Given the description of an element on the screen output the (x, y) to click on. 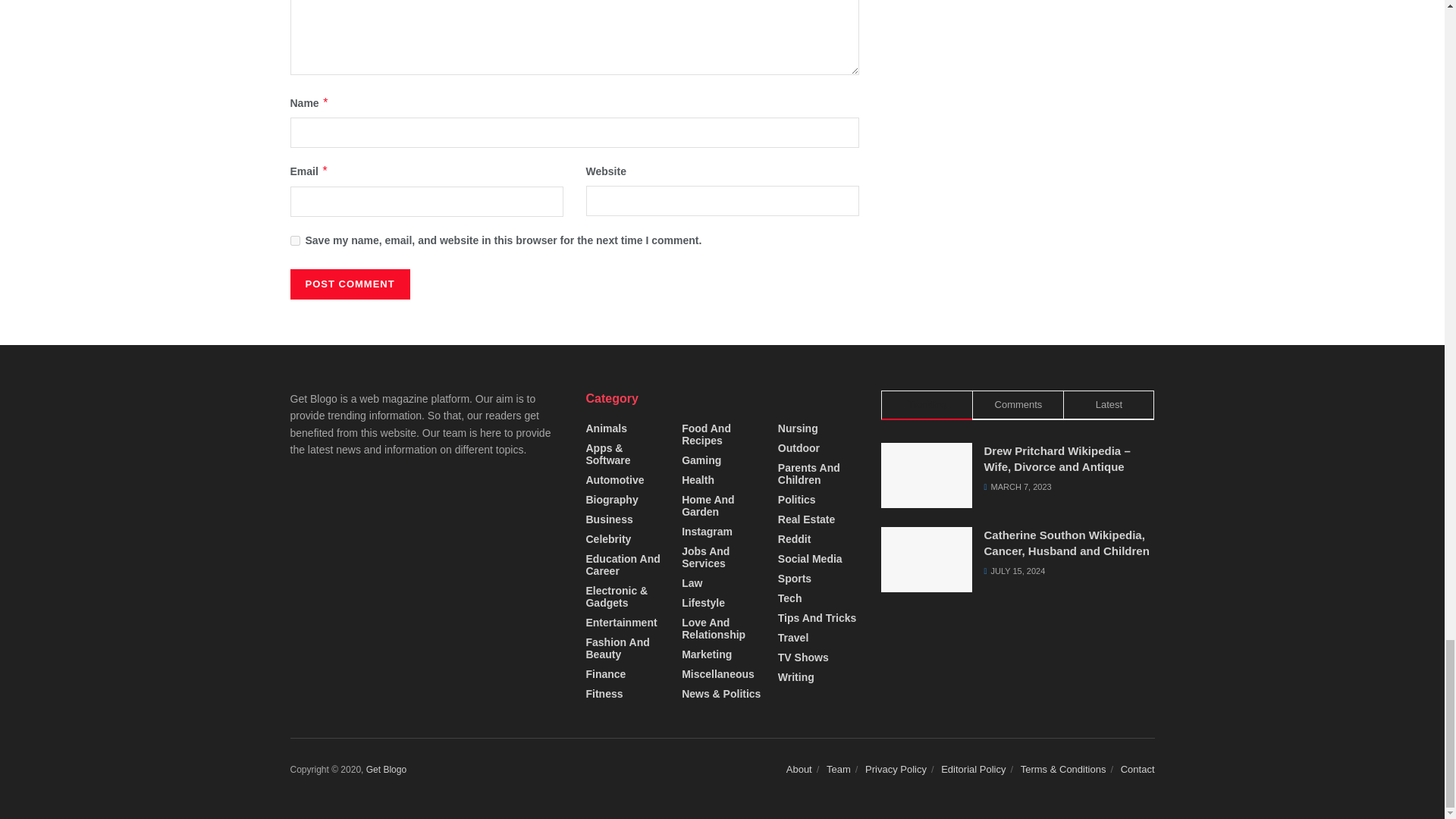
yes (294, 240)
Post Comment (349, 284)
